Given the description of an element on the screen output the (x, y) to click on. 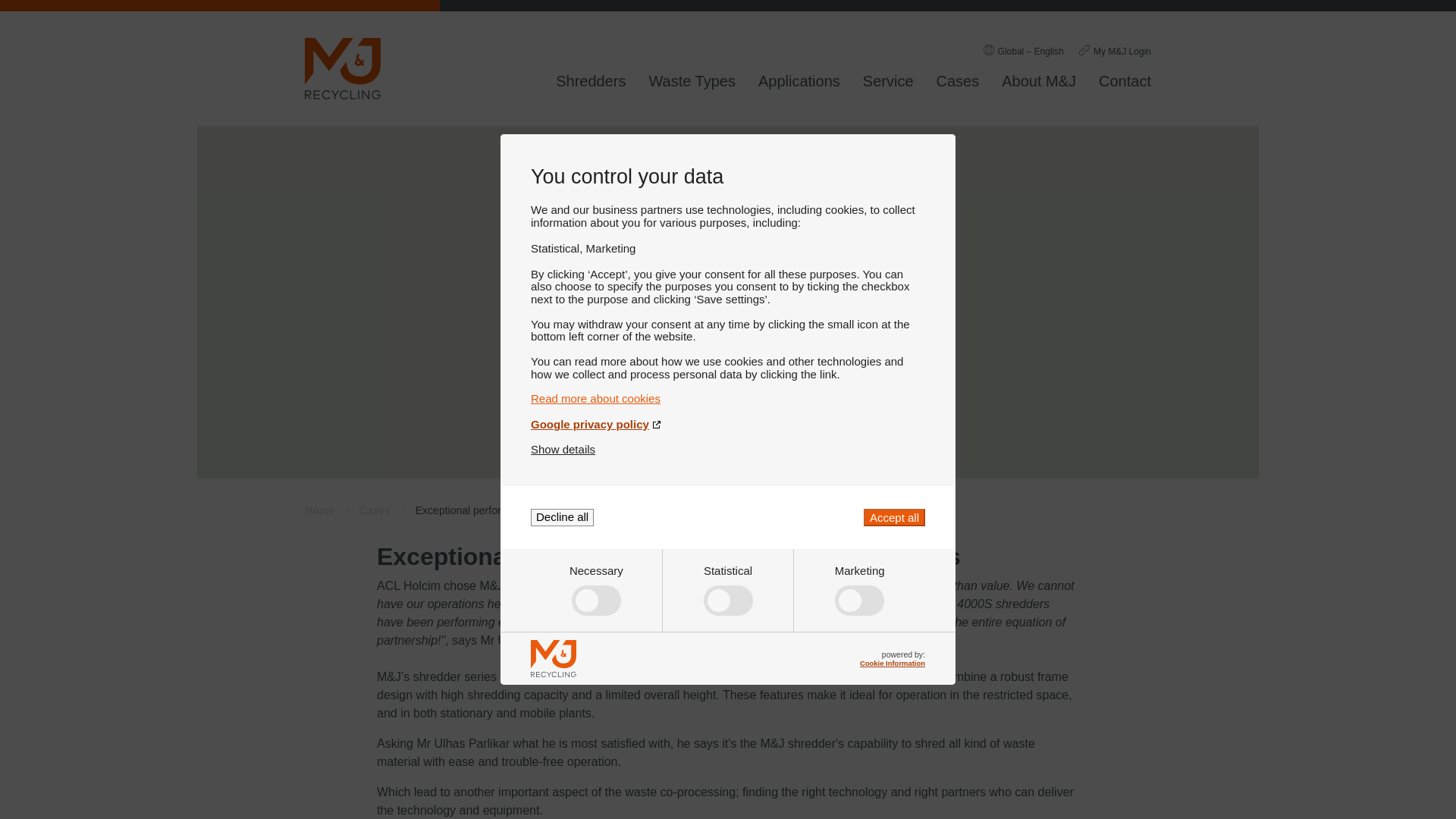
Show details (563, 449)
Google privacy policy (727, 423)
Decline all (562, 517)
Cookie Information (892, 663)
Read more about cookies (727, 398)
Accept all (893, 517)
